Given the description of an element on the screen output the (x, y) to click on. 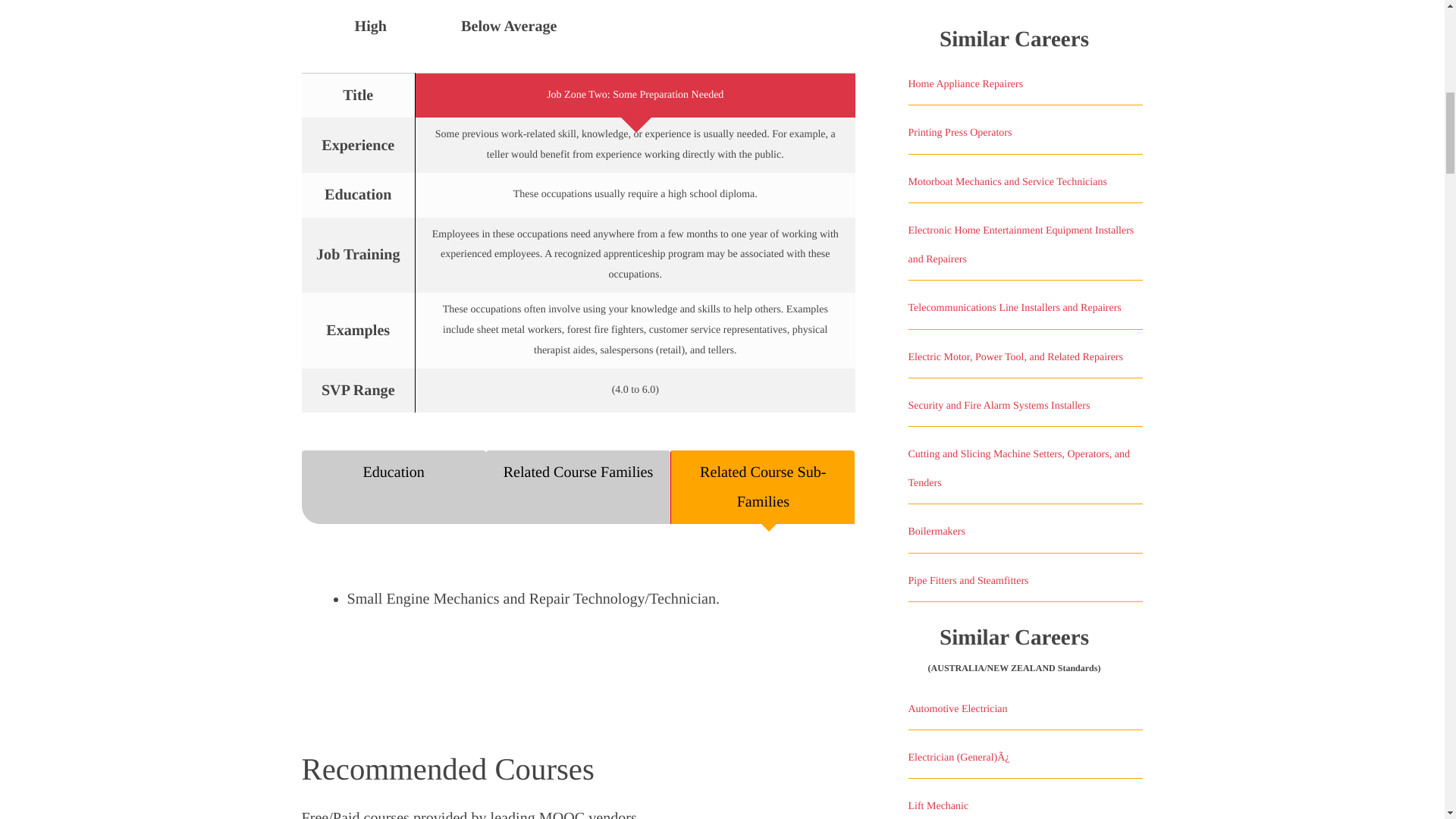
Related Course Sub-Families (761, 486)
Related Course Families (577, 486)
Education (393, 486)
